Given the description of an element on the screen output the (x, y) to click on. 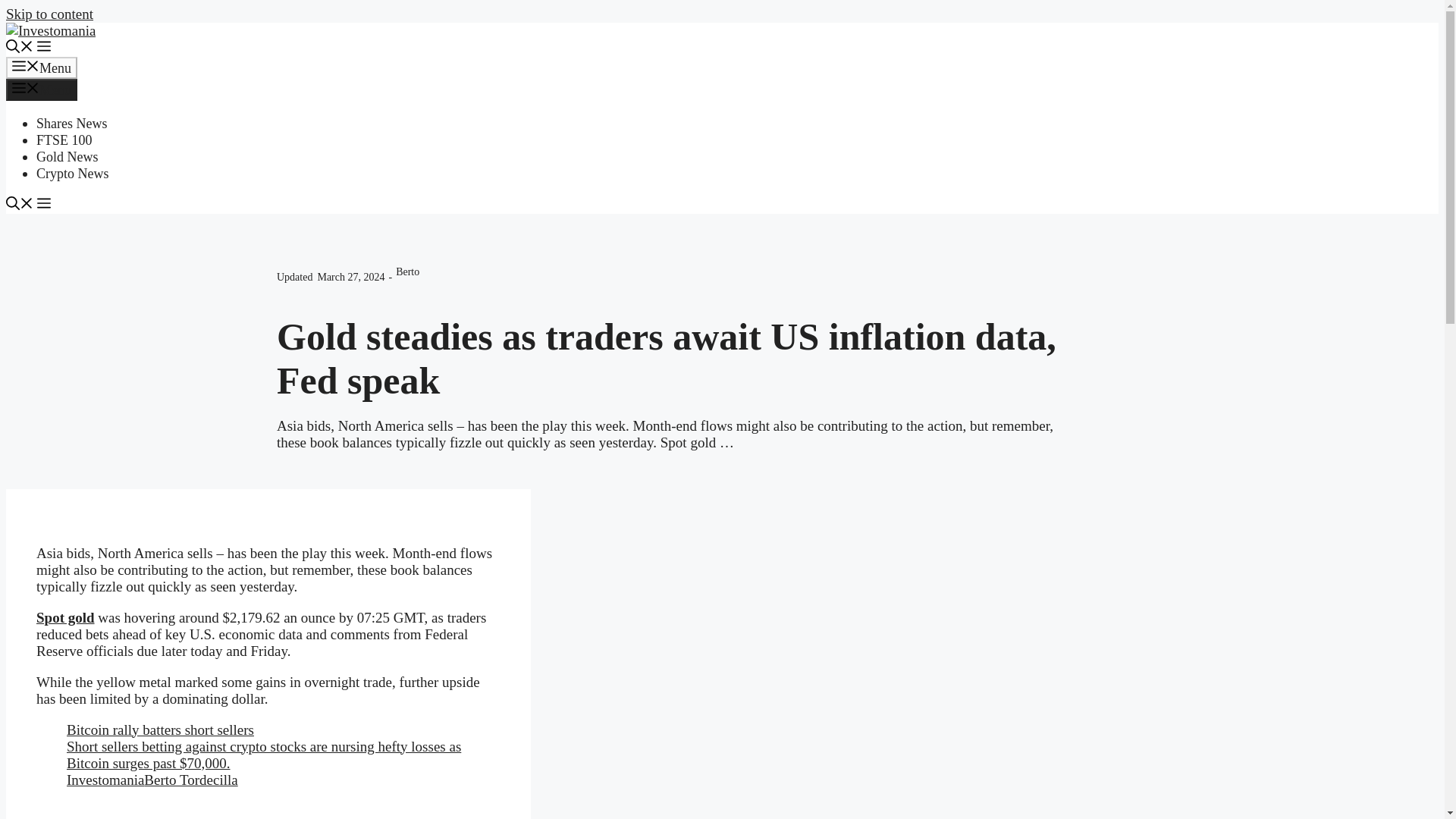
Skip to content (49, 13)
Crypto News (72, 173)
Skip to content (49, 13)
FTSE 100 (64, 140)
Spot gold (65, 617)
Berto (407, 271)
Shares News (71, 123)
Menu (41, 89)
Gold News (67, 156)
Menu (41, 67)
